Given the description of an element on the screen output the (x, y) to click on. 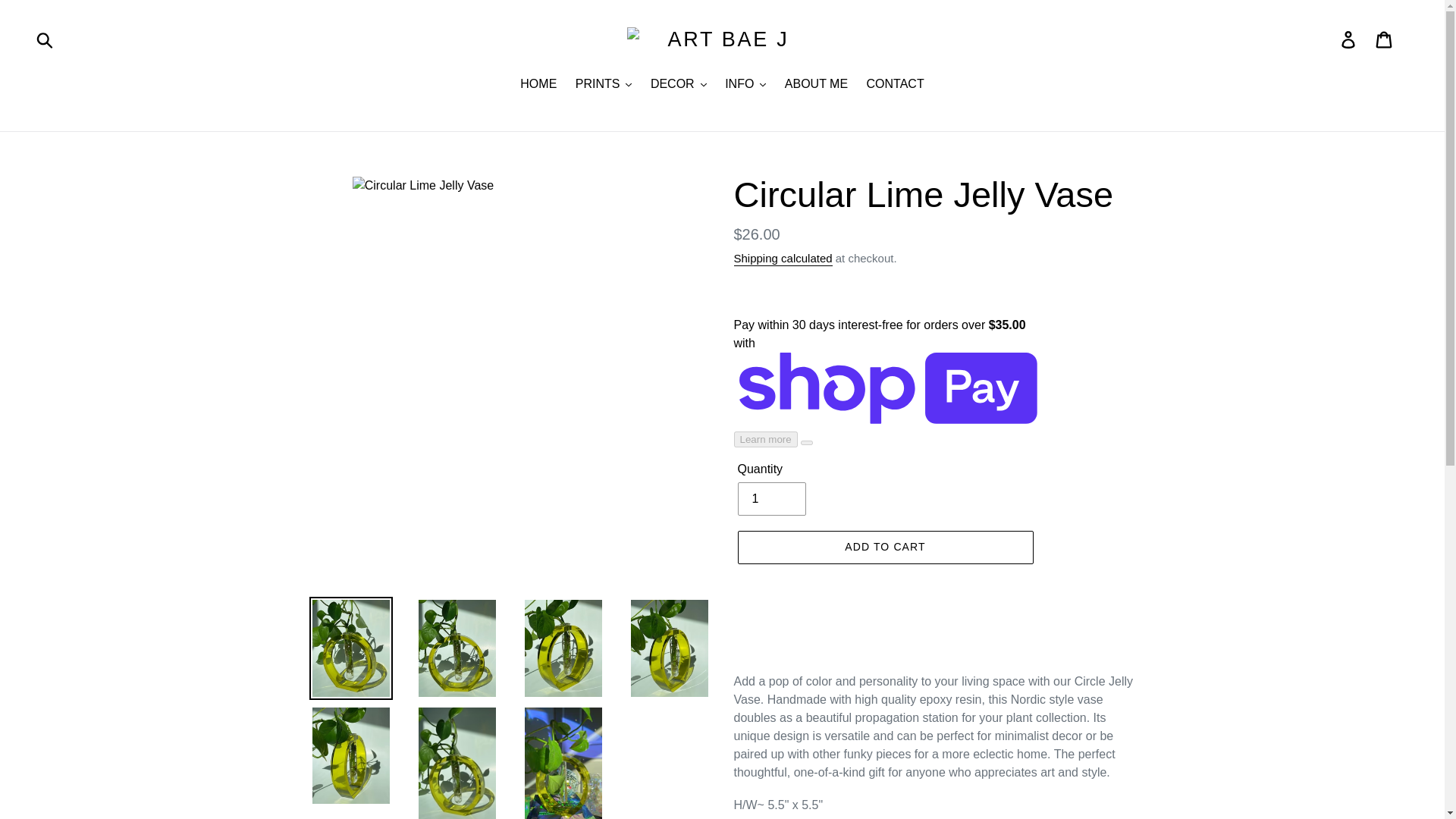
HOME (538, 85)
CONTACT (895, 85)
Cart (1385, 39)
1 (770, 498)
Log in (1349, 39)
ABOUT ME (816, 85)
Submit (45, 39)
